Given the description of an element on the screen output the (x, y) to click on. 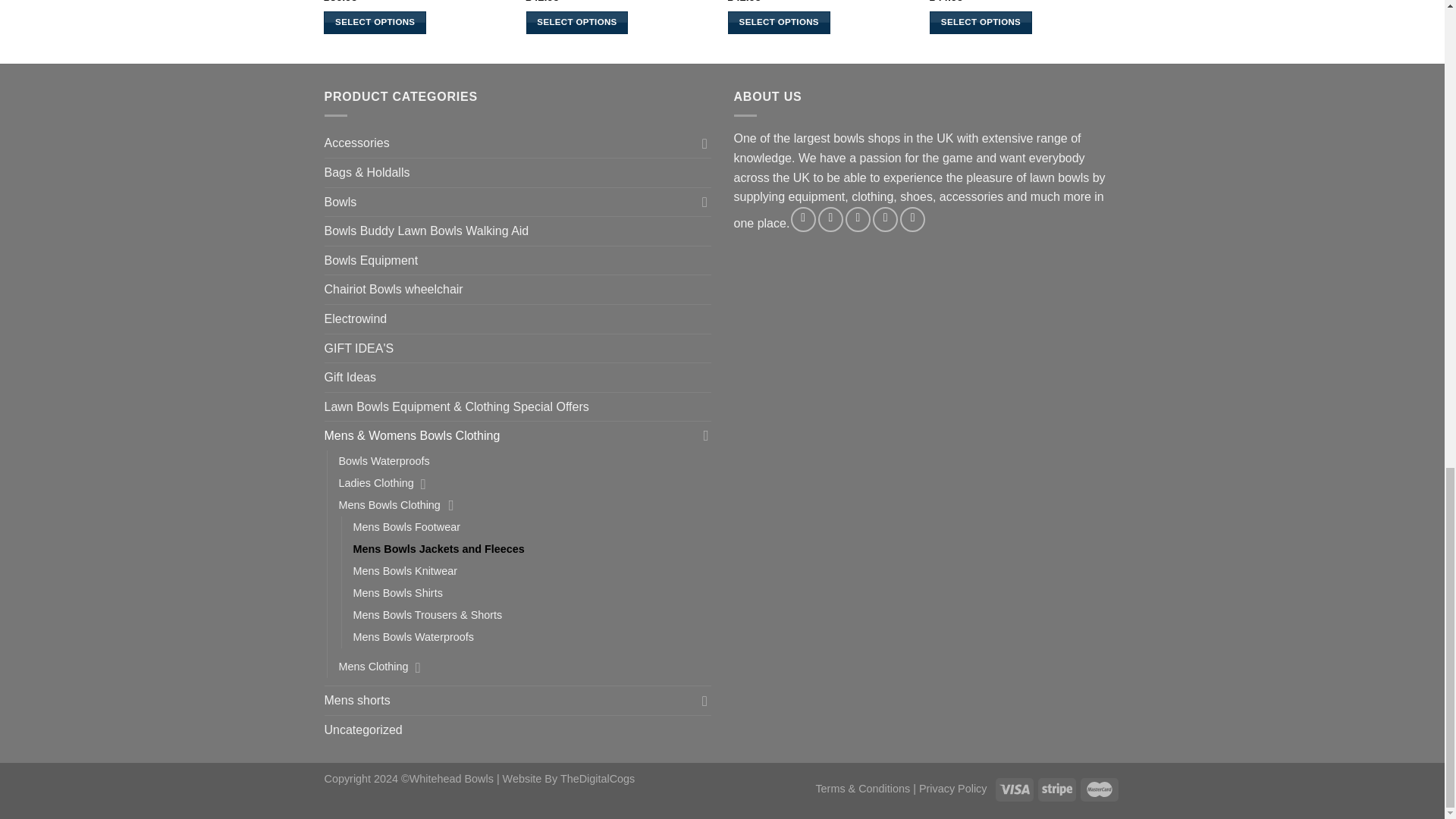
Send us an email (885, 219)
Follow on Instagram (830, 219)
Follow on Twitter (857, 219)
Follow on Facebook (802, 219)
